Given the description of an element on the screen output the (x, y) to click on. 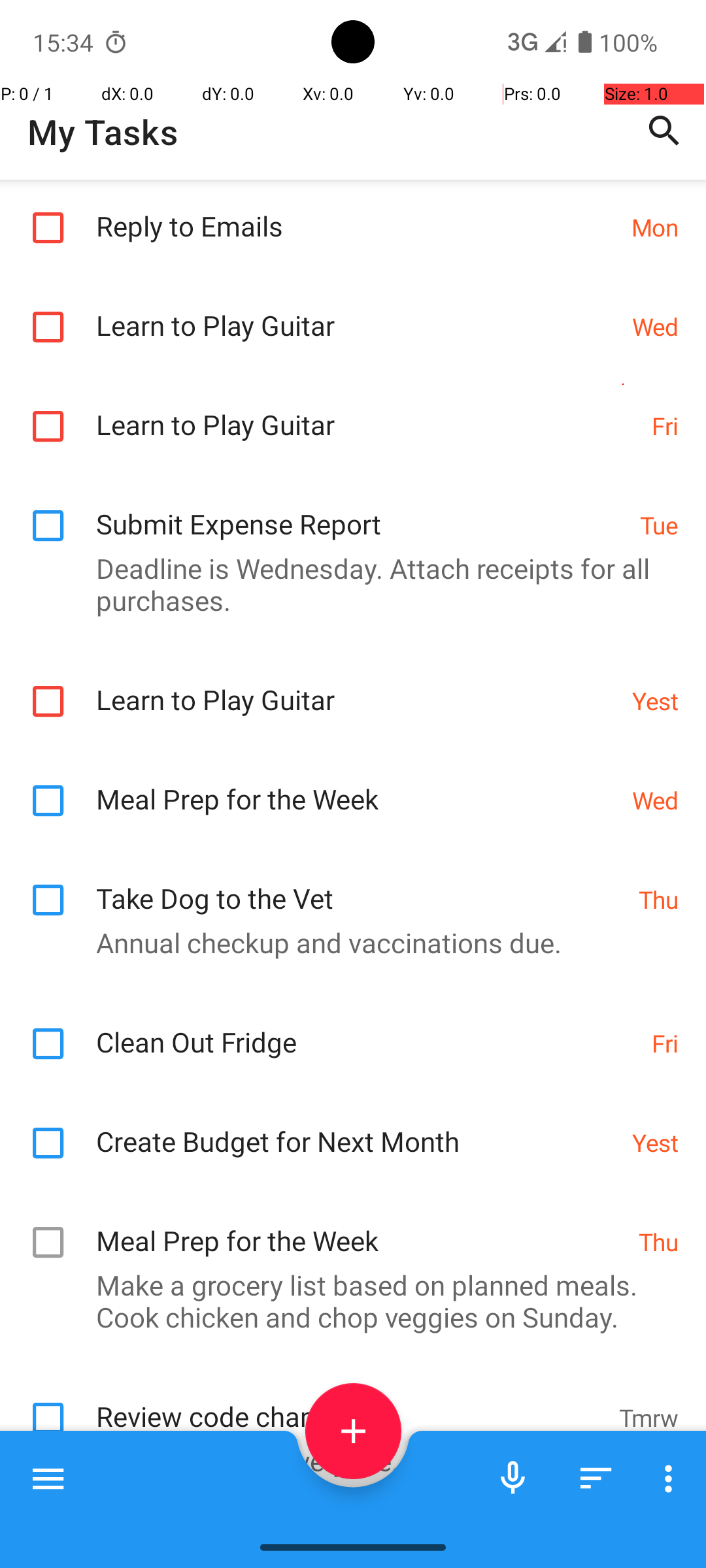
My Tasks Element type: android.widget.TextView (102, 131)
Sort Element type: android.widget.Button (595, 1478)
Reply to Emails Element type: android.widget.TextView (356, 211)
Mon Element type: android.widget.TextView (654, 226)
Learn to Play Guitar Element type: android.widget.TextView (357, 310)
Wed Element type: android.widget.TextView (655, 325)
Fri Element type: android.widget.TextView (665, 425)
Submit Expense Report Element type: android.widget.TextView (361, 509)
Deadline is Wednesday. Attach receipts for all purchases. Element type: android.widget.TextView (346, 583)
Tue Element type: android.widget.TextView (659, 524)
Yest Element type: android.widget.TextView (655, 700)
Meal Prep for the Week Element type: android.widget.TextView (357, 784)
Take Dog to the Vet Element type: android.widget.TextView (360, 883)
Annual checkup and vaccinations due. Element type: android.widget.TextView (346, 942)
Thu Element type: android.widget.TextView (658, 898)
Clean Out Fridge Element type: android.widget.TextView (367, 1027)
Create Budget for Next Month Element type: android.widget.TextView (357, 1126)
Make a grocery list based on planned meals. Cook chicken and chop veggies on Sunday. Element type: android.widget.TextView (346, 1300)
Review code changes Element type: android.widget.TextView (350, 1402)
Send emails to everyone. Element type: android.widget.TextView (346, 1460)
Tmrw Element type: android.widget.TextView (648, 1416)
Research Vacation Destinations Element type: android.widget.TextView (357, 1519)
